Given the description of an element on the screen output the (x, y) to click on. 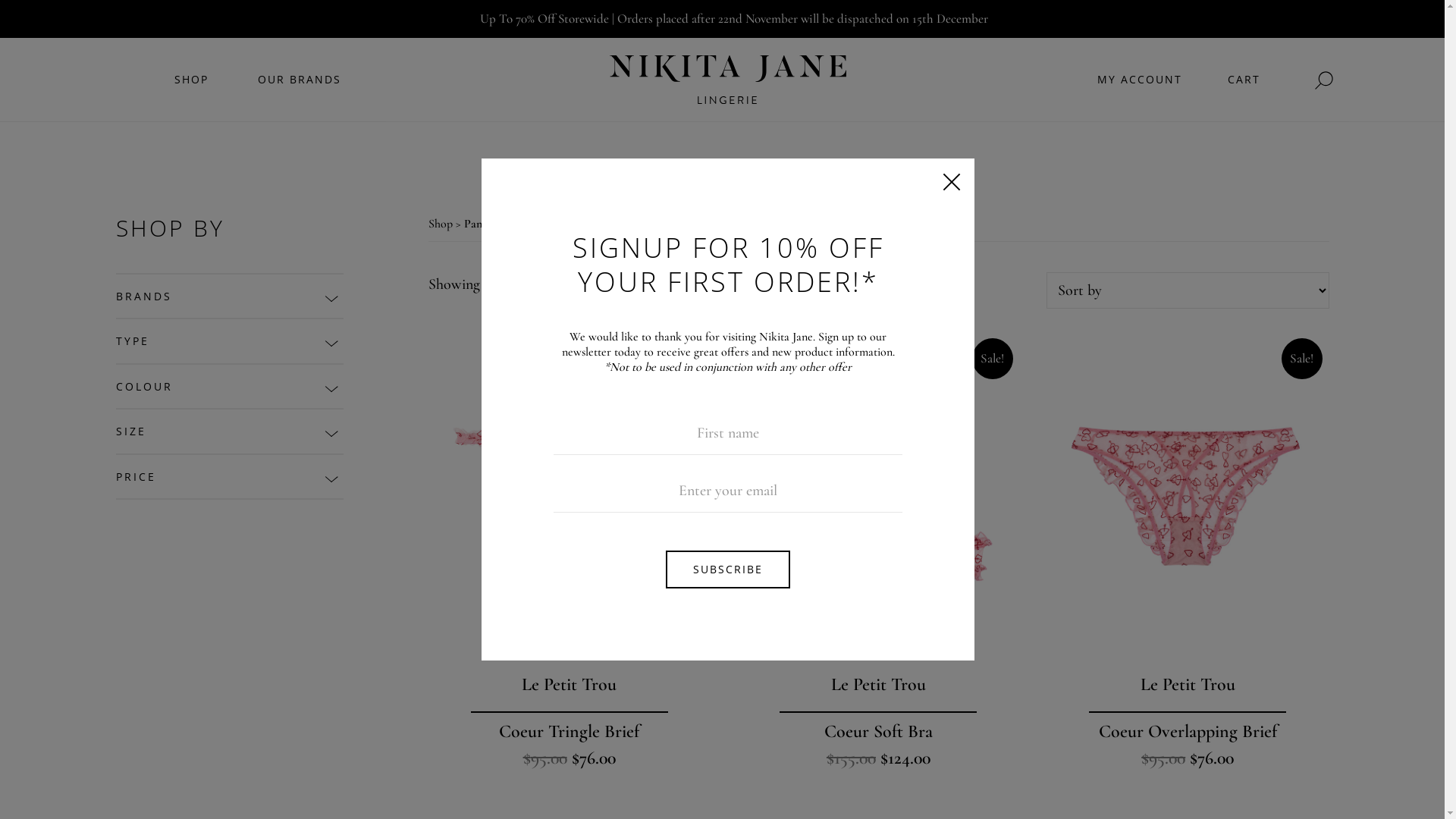
Sale!
Le Petit Trou
Coeur Overlapping Brief
$95.00 $76.00 Element type: text (1187, 551)
Subscribe Element type: text (727, 569)
OUR BRANDS Element type: text (299, 94)
Sale!
Le Petit Trou
Coeur Soft Bra
$155.00 $124.00 Element type: text (878, 551)
CLOSE Element type: text (951, 180)
Search Element type: text (727, 228)
Sale!
Le Petit Trou
Coeur Tringle Brief
$95.00 $76.00 Element type: text (568, 551)
Skip to main content Element type: text (0, 37)
Nikita Jane Element type: text (750, 70)
MY ACCOUNT Element type: text (1139, 94)
Shop Element type: text (439, 223)
SHOP Element type: text (191, 94)
CART Element type: text (1243, 94)
